Given the description of an element on the screen output the (x, y) to click on. 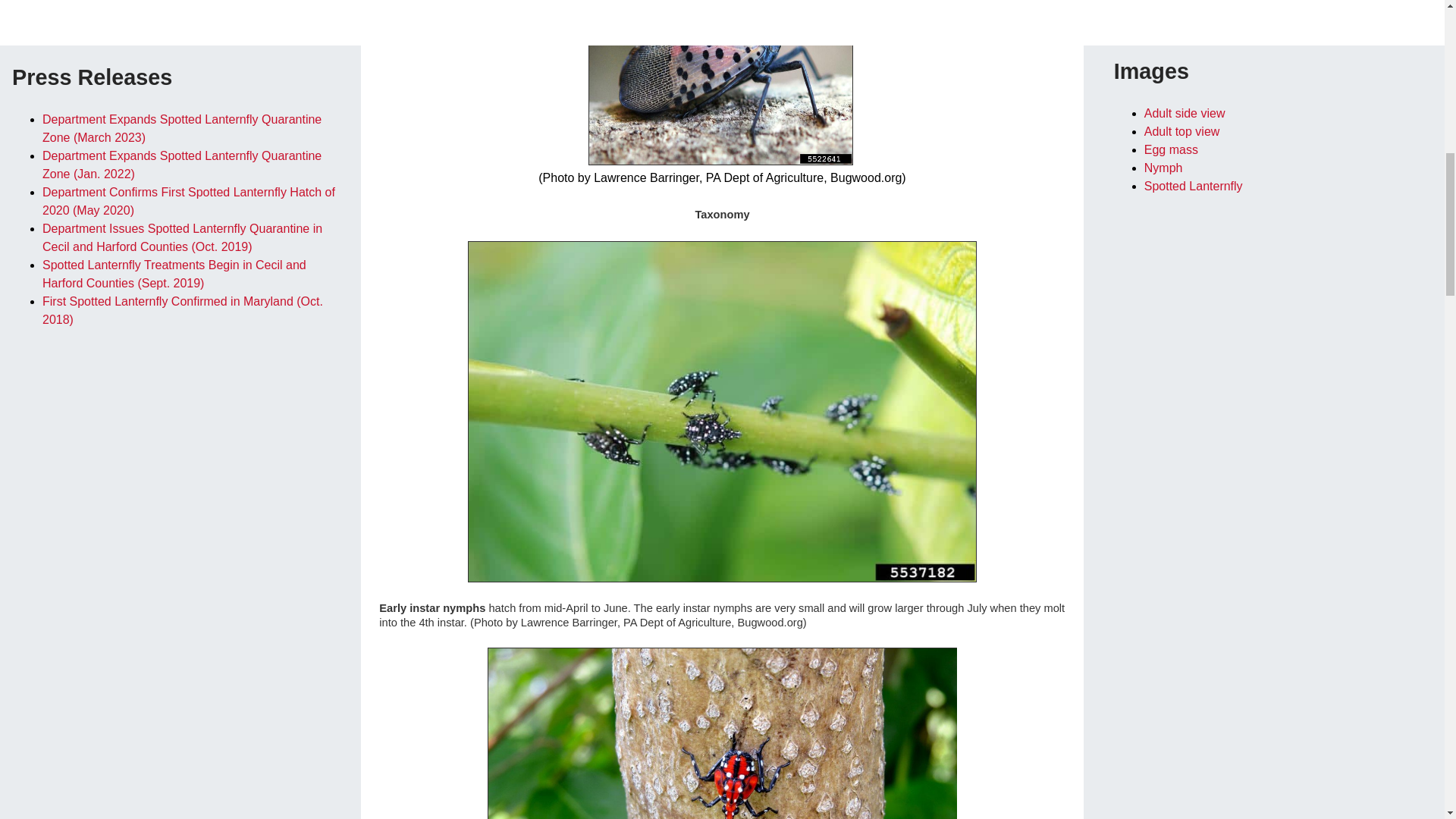
Zika Awareness (179, 2)
